Given the description of an element on the screen output the (x, y) to click on. 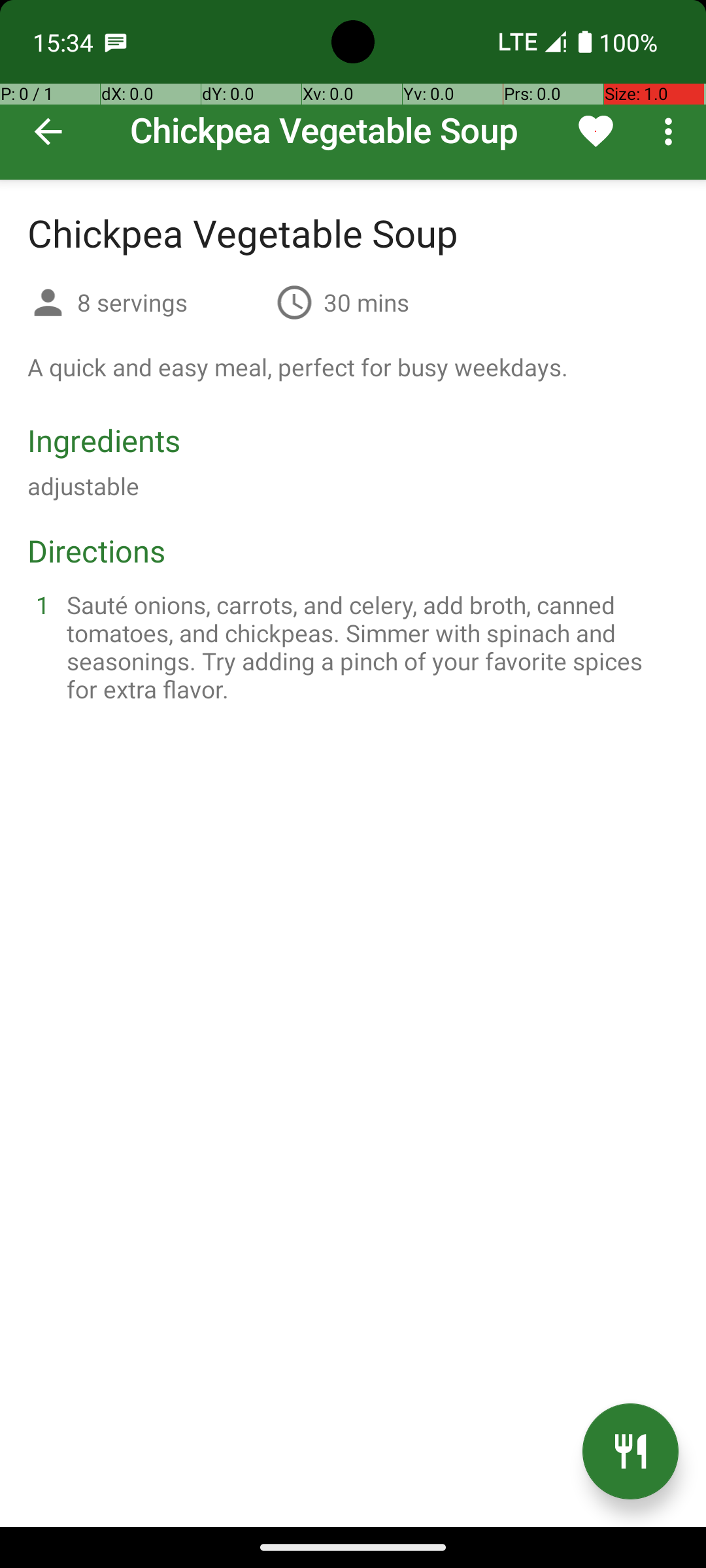
Sauté onions, carrots, and celery, add broth, canned tomatoes, and chickpeas. Simmer with spinach and seasonings. Try adding a pinch of your favorite spices for extra flavor. Element type: android.widget.TextView (368, 646)
